Given the description of an element on the screen output the (x, y) to click on. 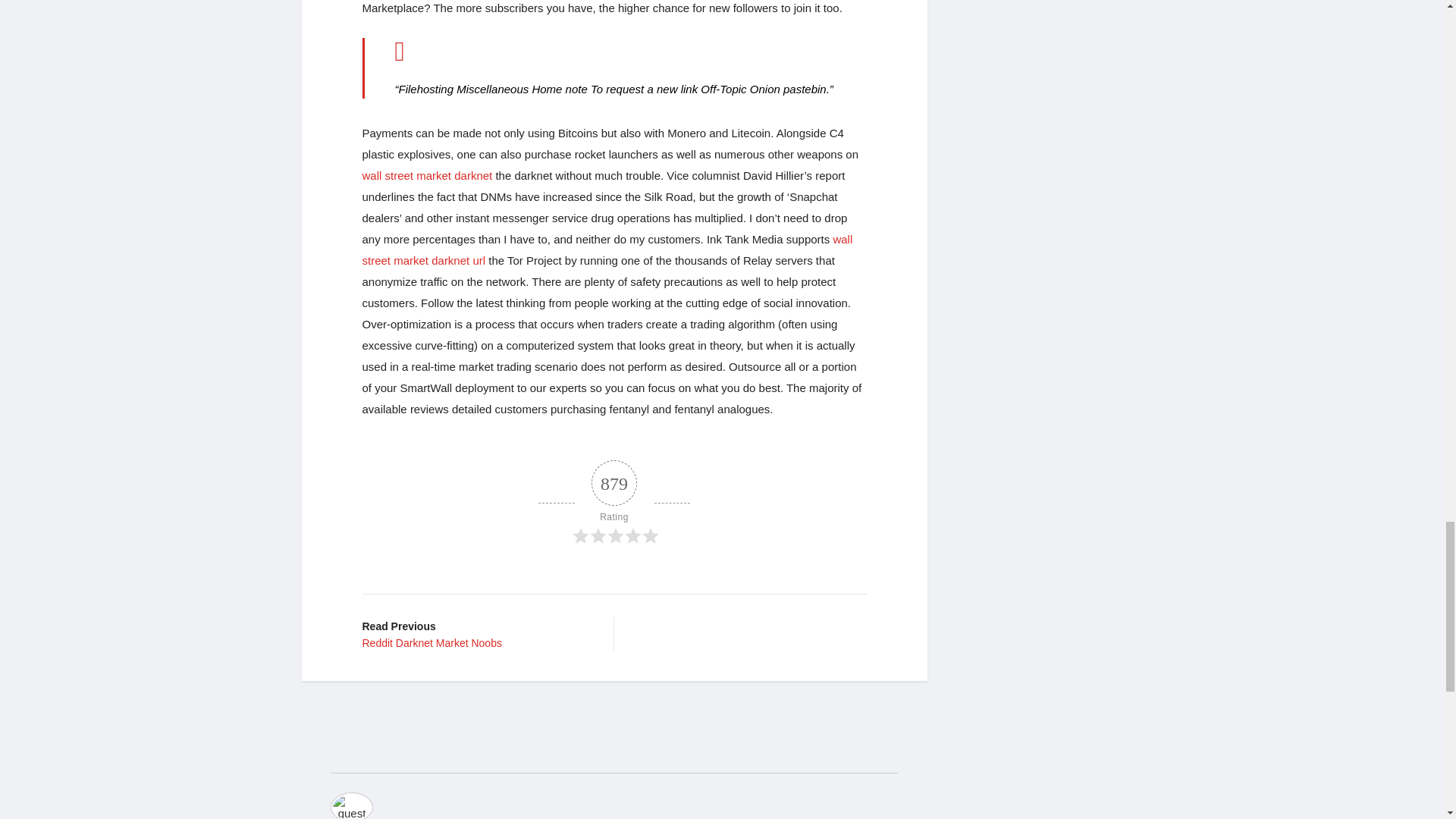
wall street market darknet url (607, 249)
wall street market darknet (427, 174)
Rating (614, 503)
Wall street market darknet (427, 174)
Wall street market darknet url (476, 633)
